Given the description of an element on the screen output the (x, y) to click on. 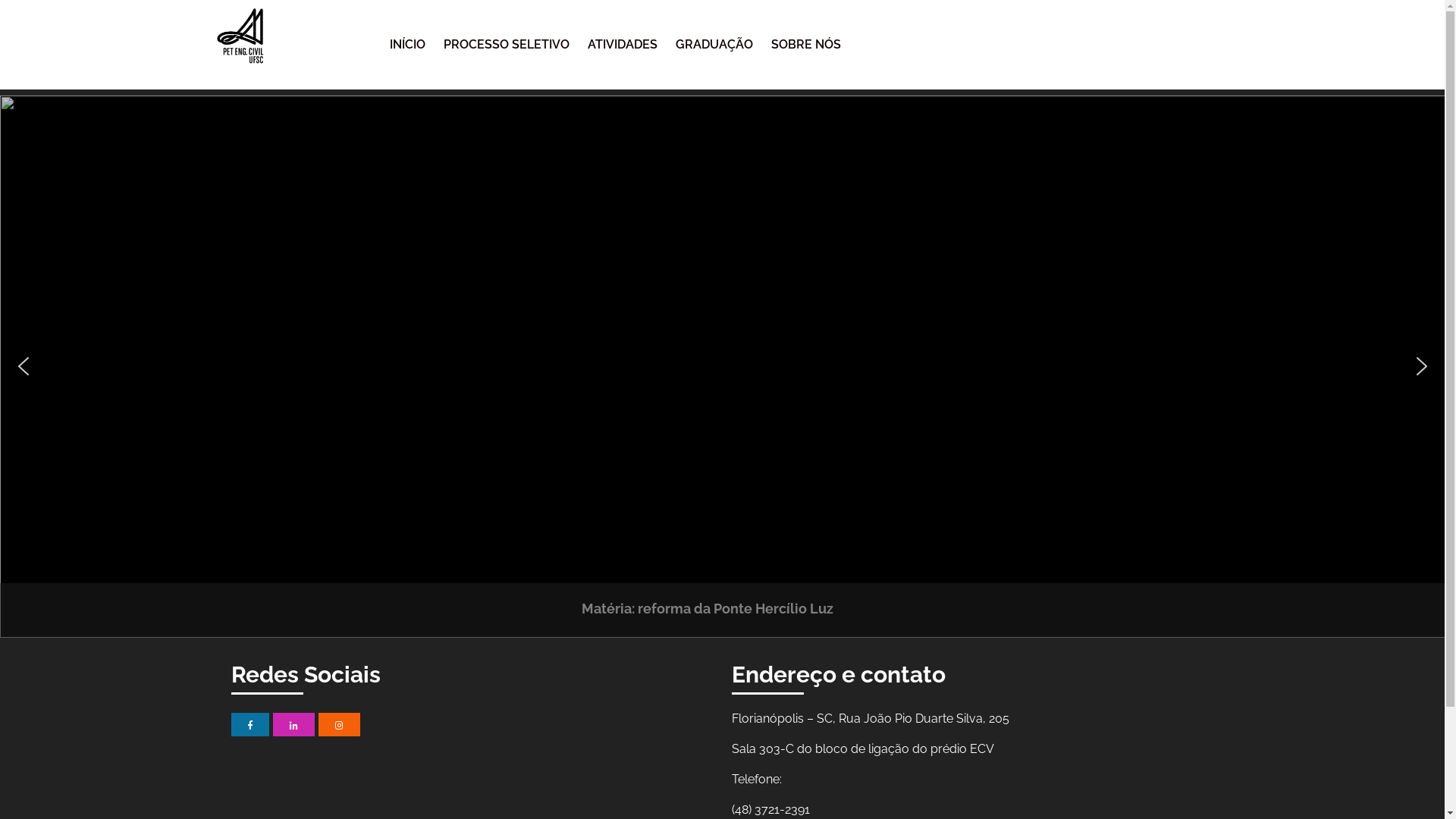
ATIVIDADES Element type: text (622, 44)
Instagram Element type: text (339, 724)
Facebook Element type: text (249, 724)
Linkedin Element type: text (293, 724)
PROCESSO SELETIVO Element type: text (506, 44)
